Given the description of an element on the screen output the (x, y) to click on. 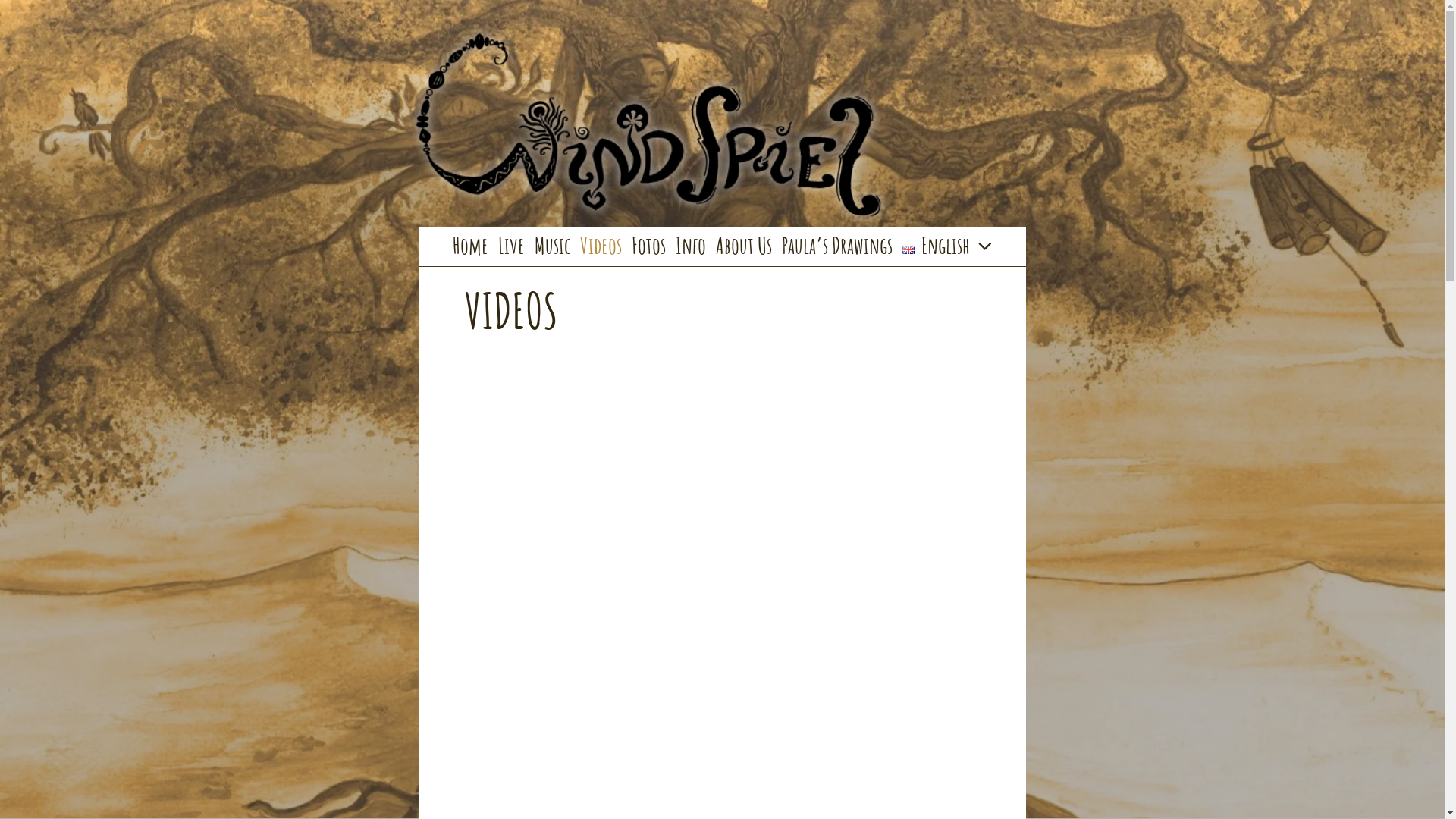
Live Element type: text (510, 245)
Music Element type: text (551, 245)
Home Element type: text (469, 245)
About Us Element type: text (743, 245)
Videos Element type: text (600, 245)
Fotos Element type: text (647, 245)
English Element type: text (947, 246)
Info Element type: text (689, 245)
WINDSPIEL Element type: text (509, 254)
English Element type: hover (908, 249)
YouTube player Element type: hover (721, 504)
